Given the description of an element on the screen output the (x, y) to click on. 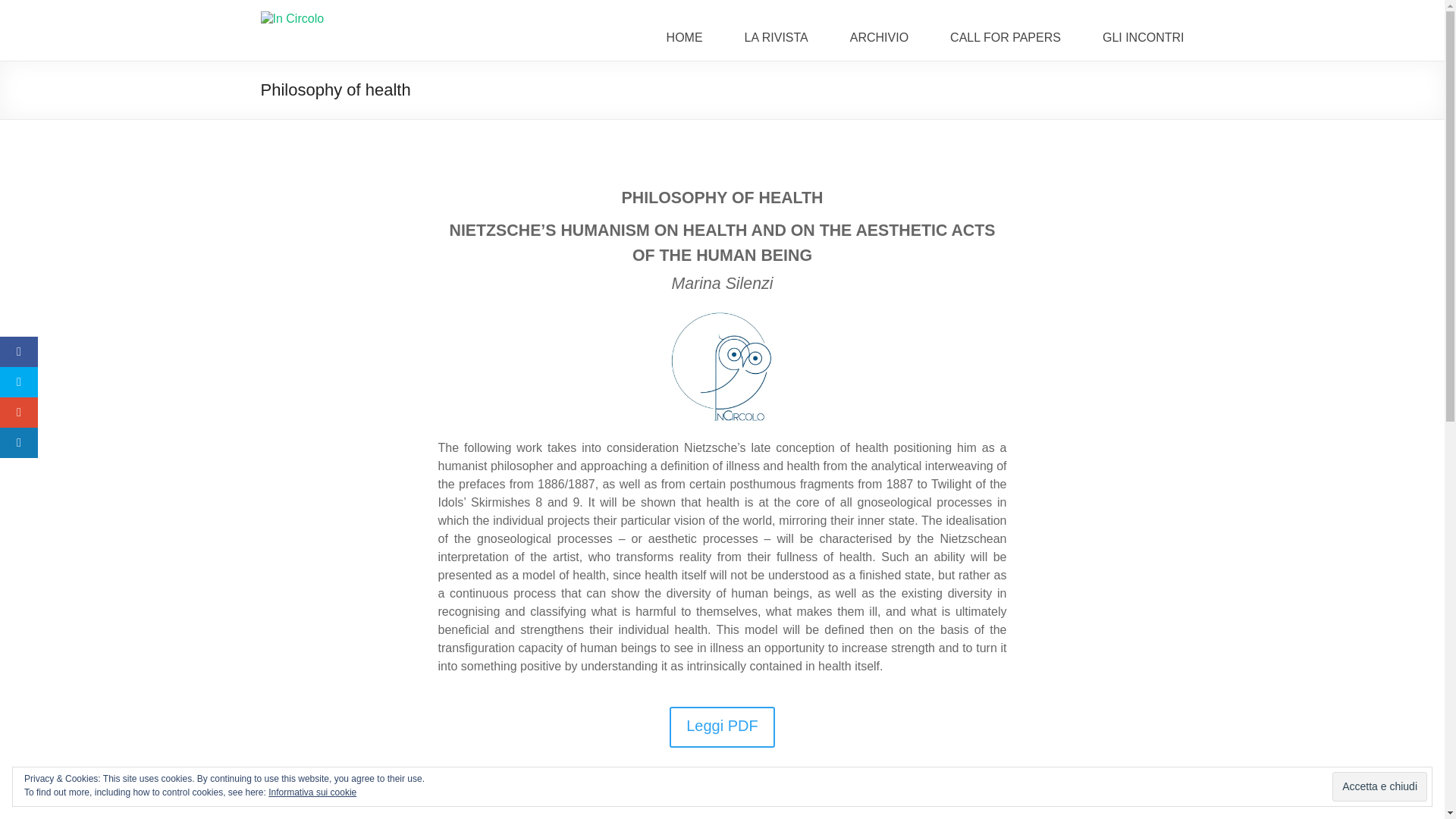
In Circolo (396, 31)
CALL FOR PAPERS (1005, 37)
Accetta e chiudi (1379, 786)
ARCHIVIO (879, 37)
Leggi PDF (721, 726)
GLI INCONTRI (1143, 37)
LA RIVISTA (776, 37)
HOME (684, 37)
In Circolo (396, 31)
